Given the description of an element on the screen output the (x, y) to click on. 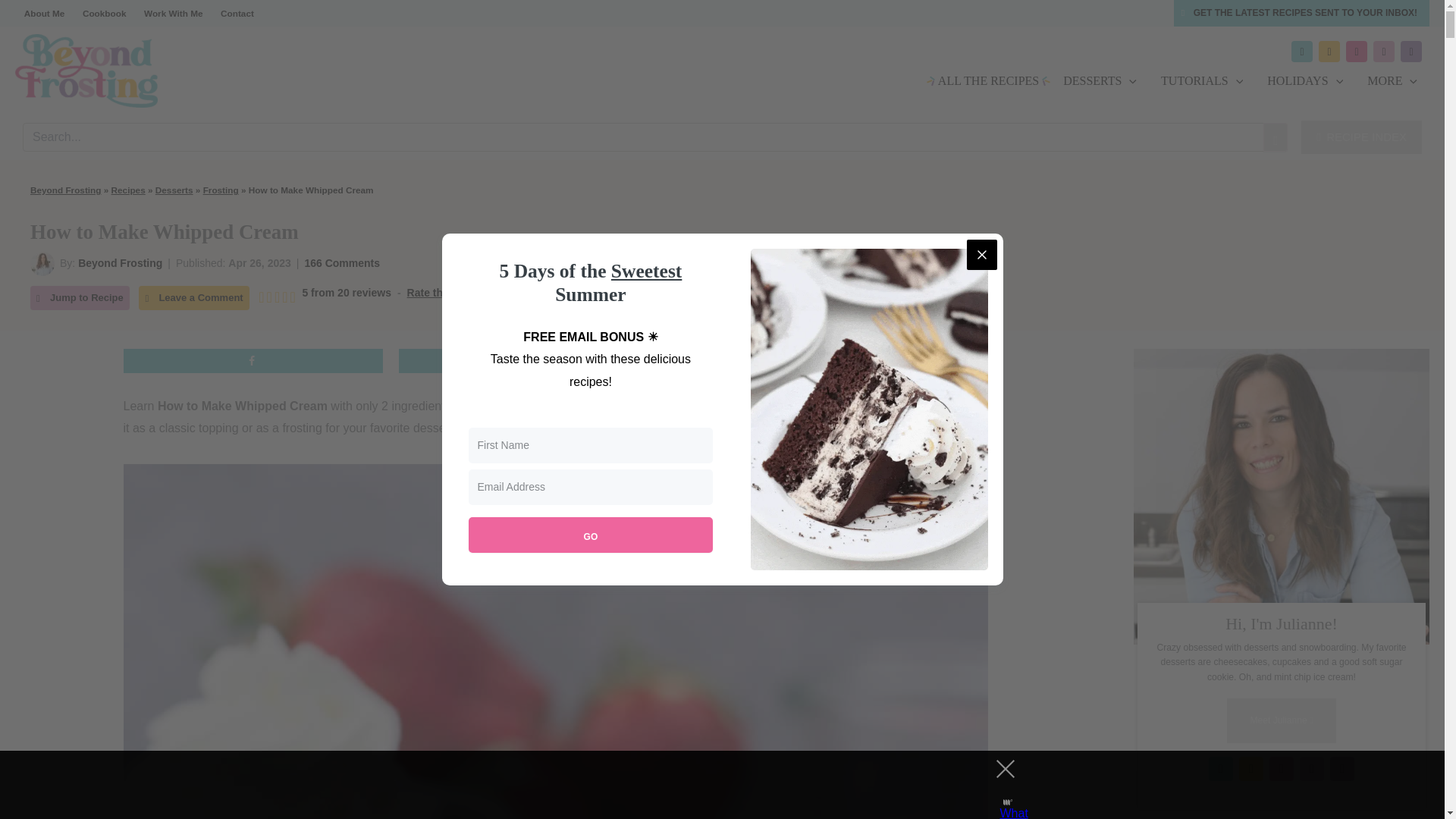
ALL THE RECIPES (988, 80)
About Beyond Frosting (119, 263)
Instagram (1329, 51)
Jump to Recipe (79, 298)
HOLIDAYS (1305, 80)
Facebook (1302, 51)
TUTORIALS (1201, 80)
About Me (44, 13)
Contact (236, 13)
Pinterest (1356, 51)
Comment on and rate this recipe (325, 297)
GET THE LATEST RECIPES SENT TO YOUR INBOX! (1301, 13)
Work With Me (173, 13)
Youtube (1411, 51)
Beyond Frosting (42, 263)
